Given the description of an element on the screen output the (x, y) to click on. 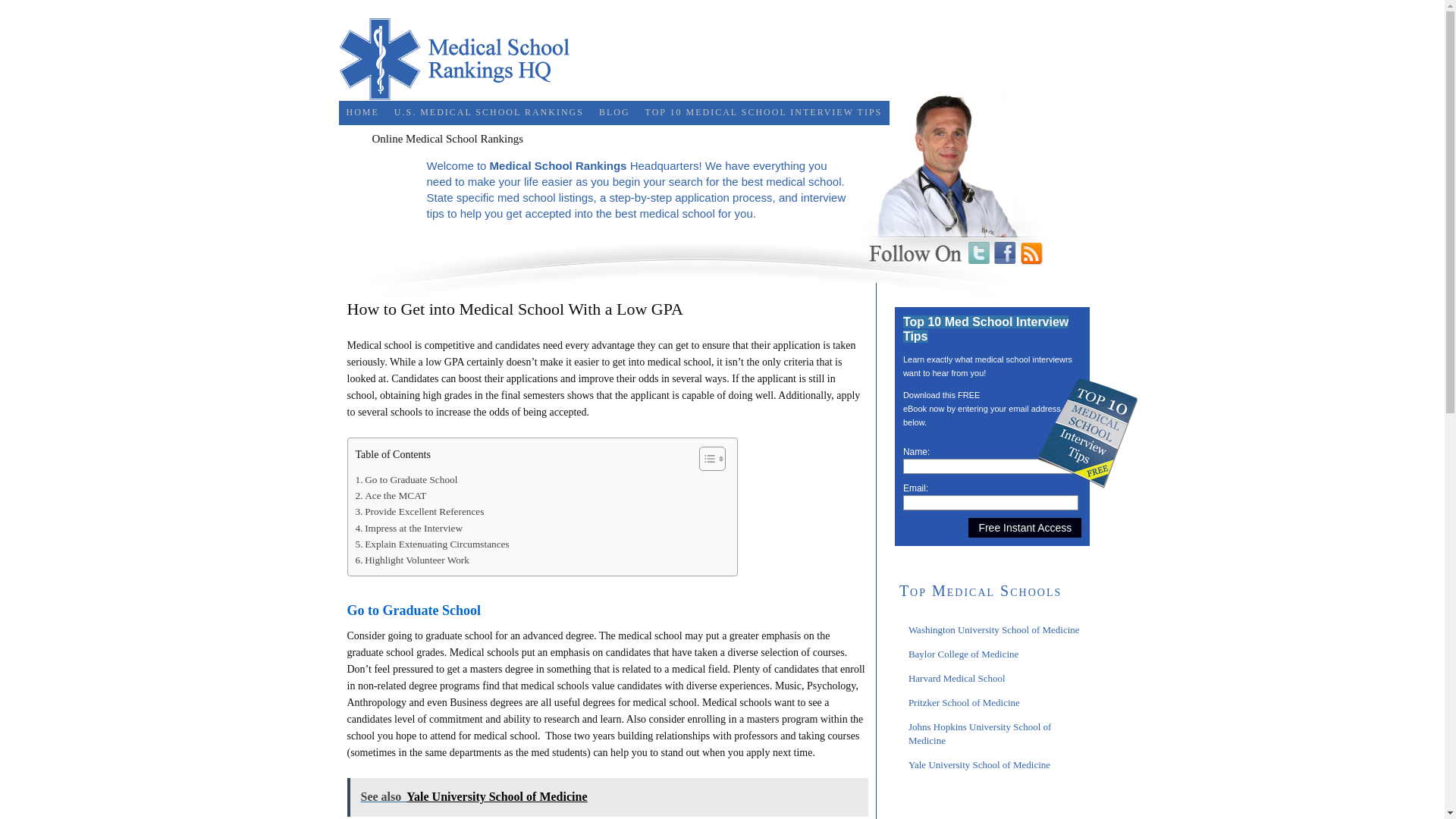
BLOG (614, 112)
Highlight Volunteer Work (411, 560)
U.S. MEDICAL SCHOOL RANKINGS (489, 112)
Provide Excellent References (419, 511)
HOME (361, 112)
Go to Graduate School (406, 479)
Highlight Volunteer Work (411, 560)
TOP 10 MEDICAL SCHOOL INTERVIEW TIPS (763, 112)
Yale University School of Medicine (978, 764)
Explain Extenuating Circumstances (431, 544)
Free Instant Access (1024, 527)
Baylor College of Medicine (963, 654)
Medical School Rankings Headquarters (461, 58)
See also  Yale University School of Medicine (607, 797)
Washington University School of Medicine (994, 629)
